Given the description of an element on the screen output the (x, y) to click on. 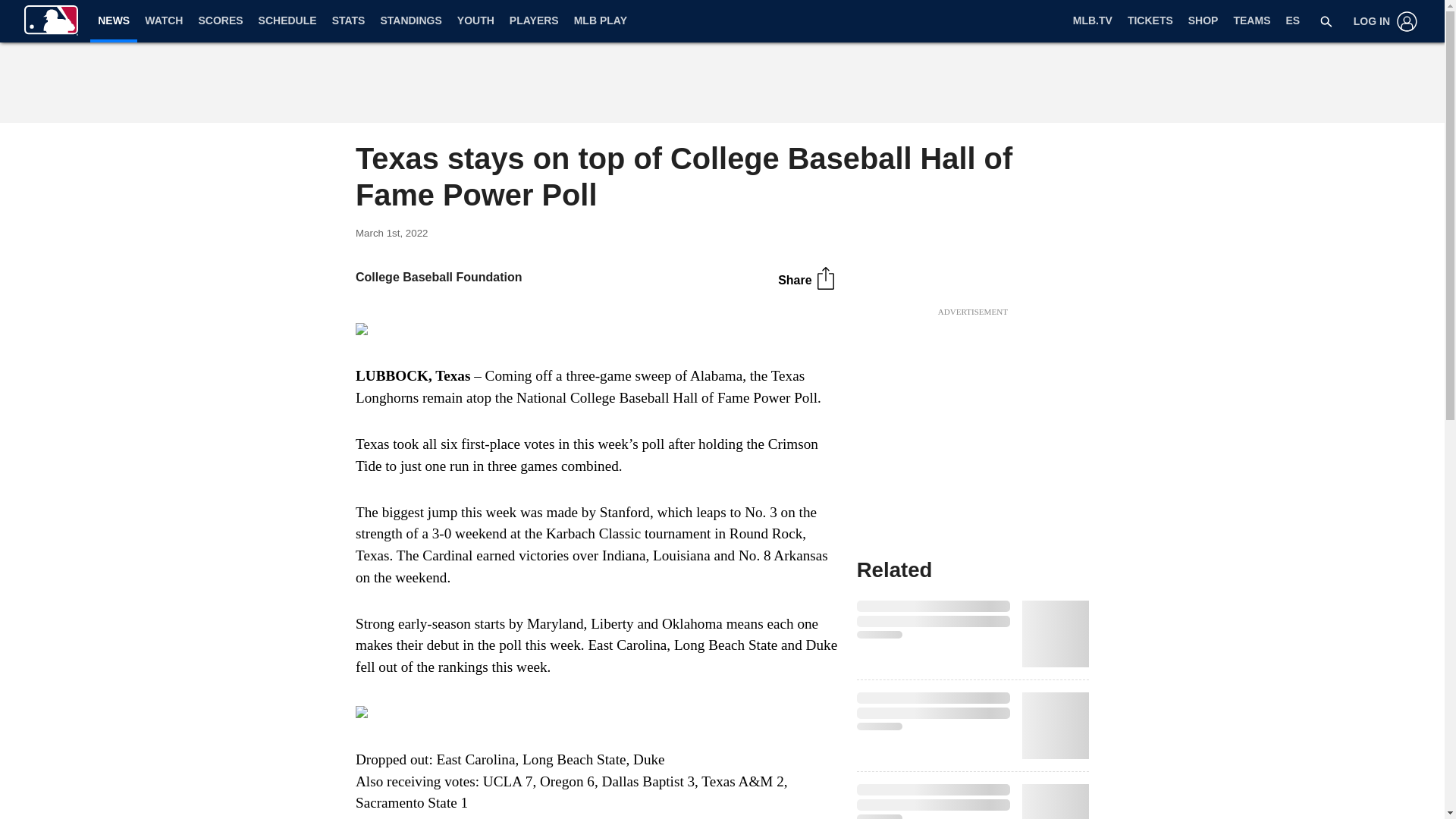
search-1 (1326, 21)
STATS (348, 21)
NEWS (113, 19)
share-square-2 (825, 277)
STANDINGS (410, 21)
WATCH (163, 21)
SCHEDULE (287, 21)
SCORES (220, 21)
YOUTH (475, 21)
